Given the description of an element on the screen output the (x, y) to click on. 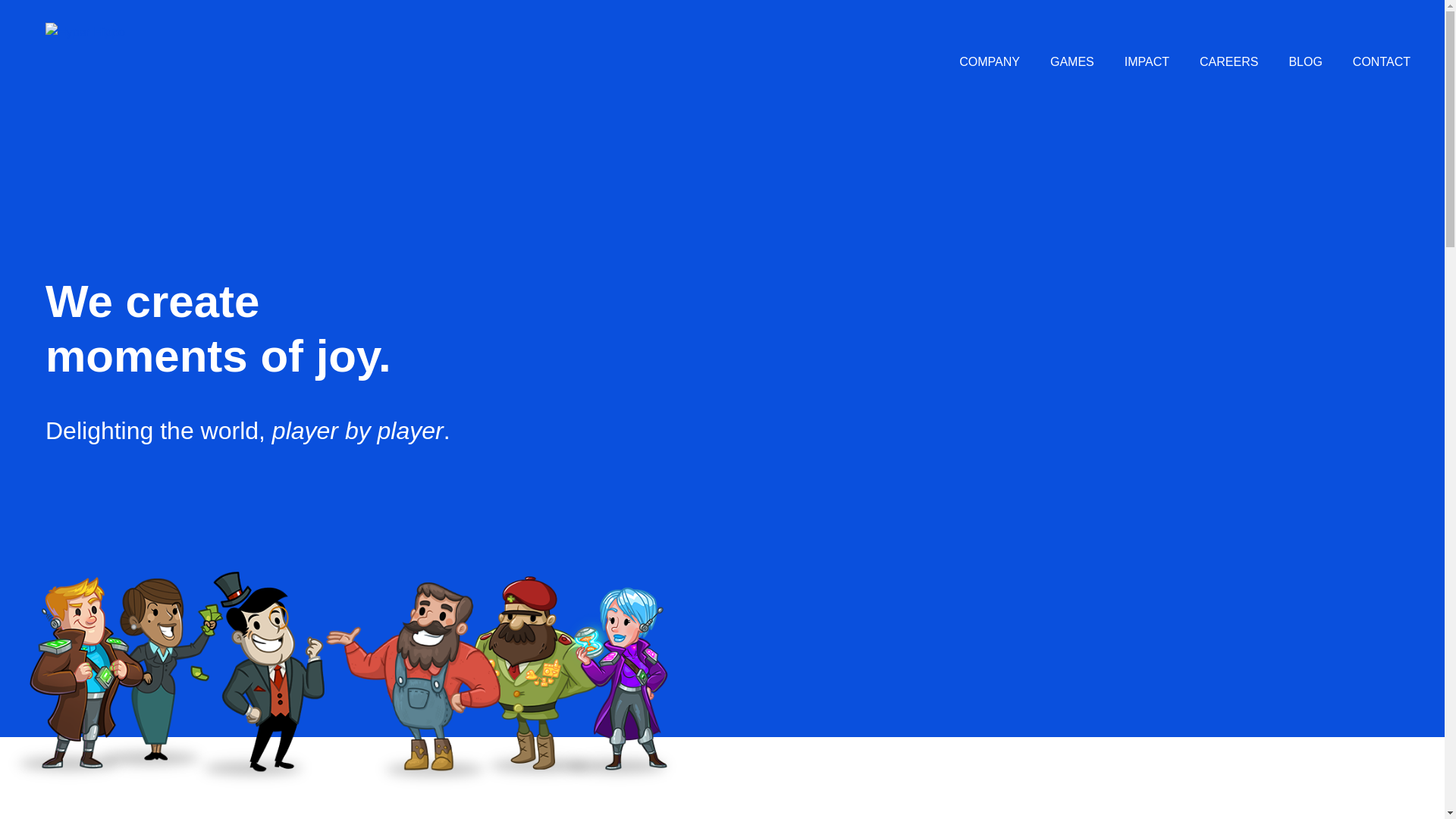
CAREERS (1228, 62)
COMPANY (989, 62)
GAMES (1072, 62)
IMPACT (1146, 62)
BLOG (1305, 62)
CONTACT (1381, 62)
